Given the description of an element on the screen output the (x, y) to click on. 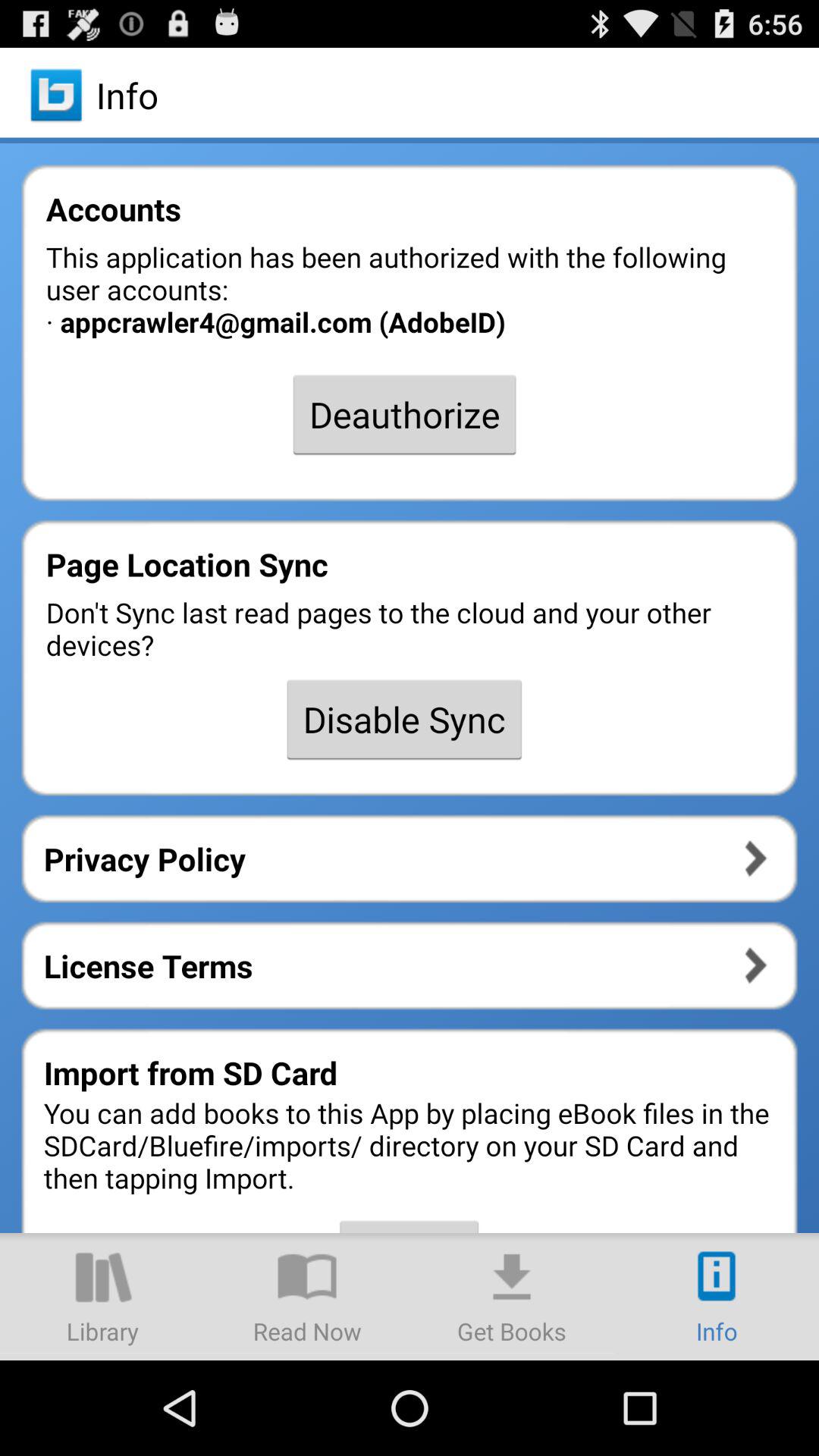
download books icon (511, 1296)
